Given the description of an element on the screen output the (x, y) to click on. 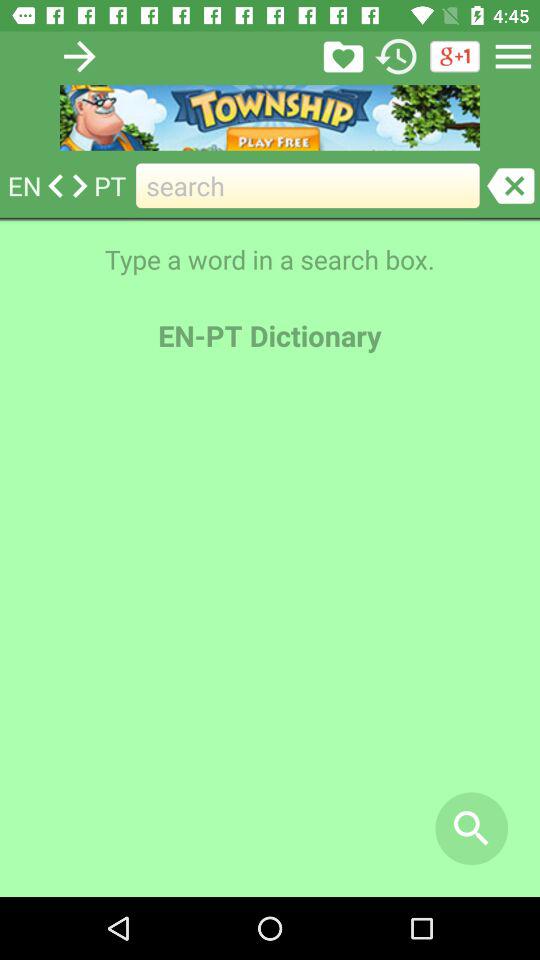
like the app (343, 56)
